Given the description of an element on the screen output the (x, y) to click on. 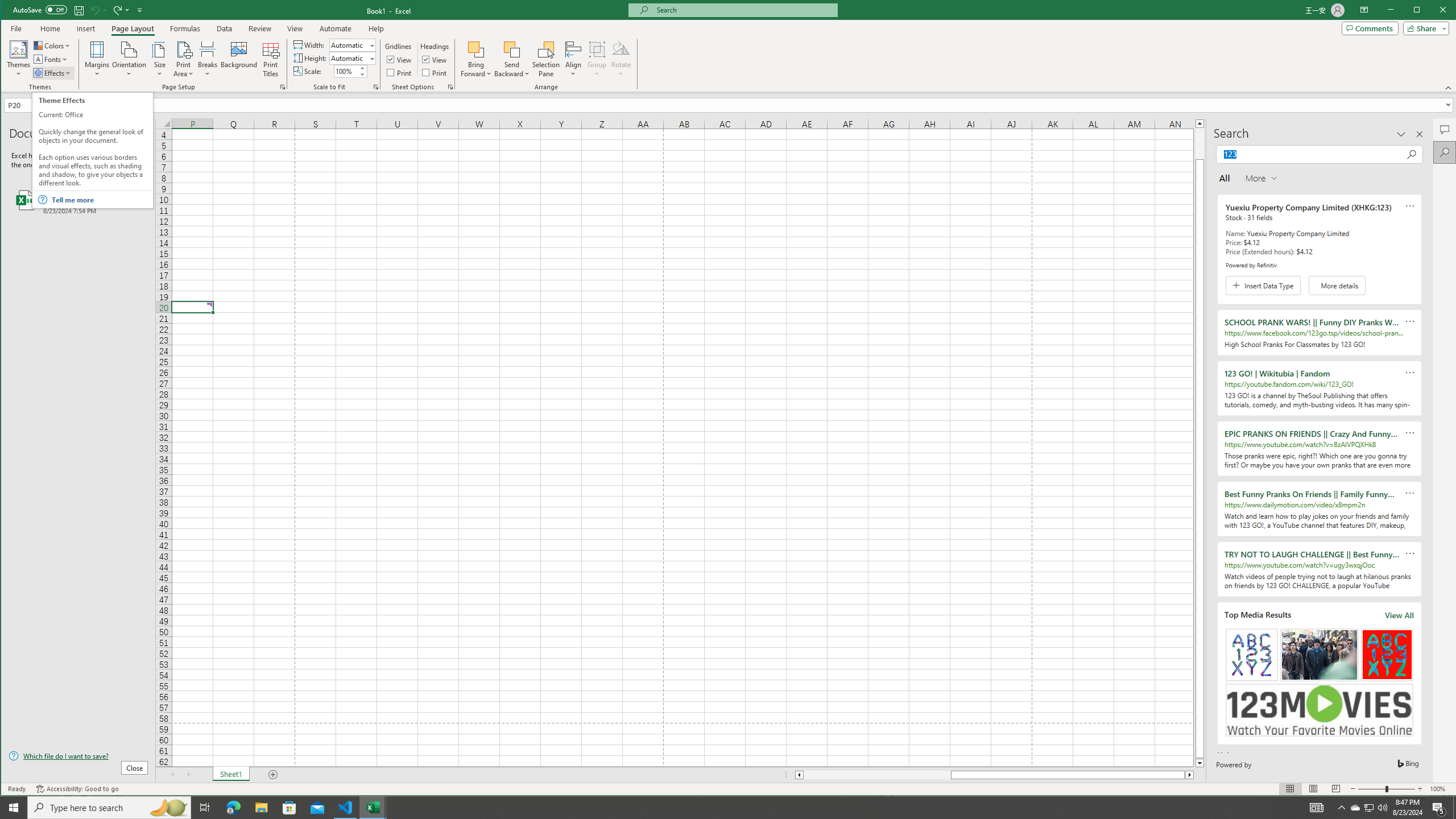
Print (434, 72)
Search (1444, 151)
Height (349, 58)
User Promoted Notification Area (1368, 807)
Task View (204, 807)
Visual Studio Code - 1 running window (345, 807)
